Given the description of an element on the screen output the (x, y) to click on. 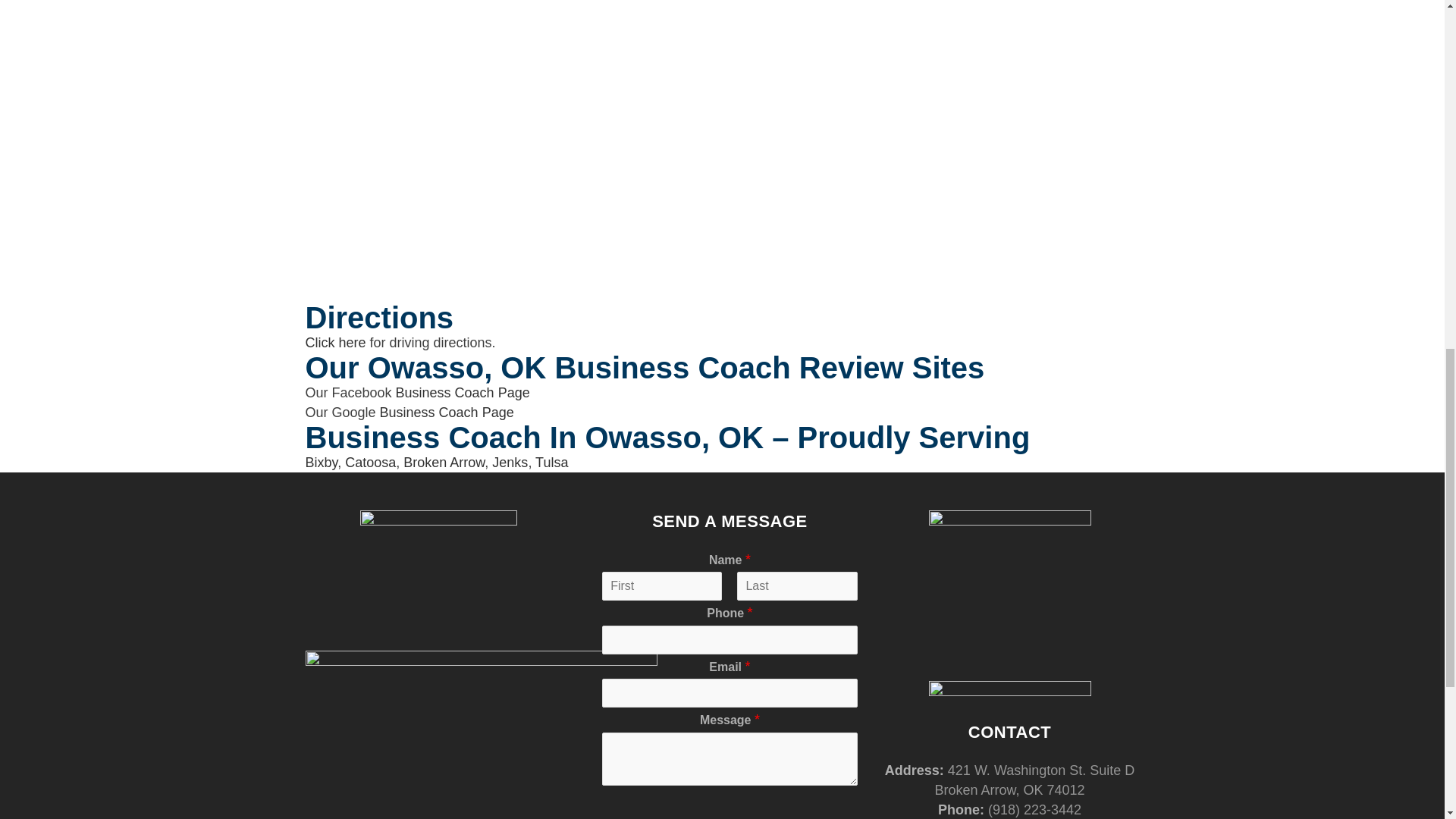
Broken Arrow (443, 462)
Click here (334, 342)
Bixby (320, 462)
Catoosa (370, 462)
Business Coach Page (462, 392)
Business Coach Page (446, 412)
Jenks (509, 462)
